Given the description of an element on the screen output the (x, y) to click on. 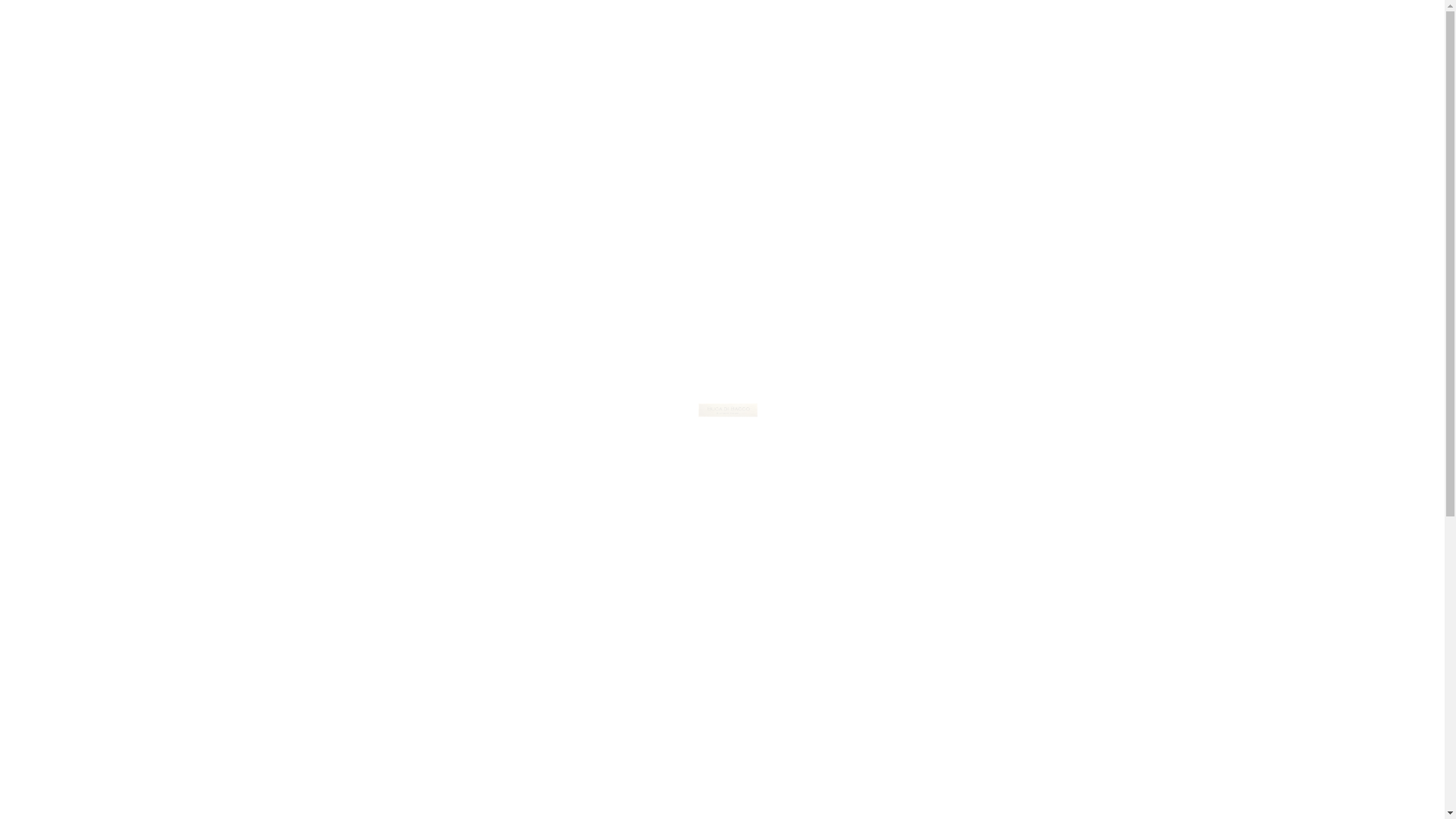
CARTES & MENUS Element type: text (758, 25)
Accueil Buca Di Bacco Element type: hover (727, 408)
Accueil Buca Di Bacco Element type: hover (76, 26)
PHOTOS Element type: text (848, 25)
AVIS Element type: text (900, 25)
PRESSE Element type: text (941, 25)
MENU LUNCH Element type: text (1003, 25)
